Given the description of an element on the screen output the (x, y) to click on. 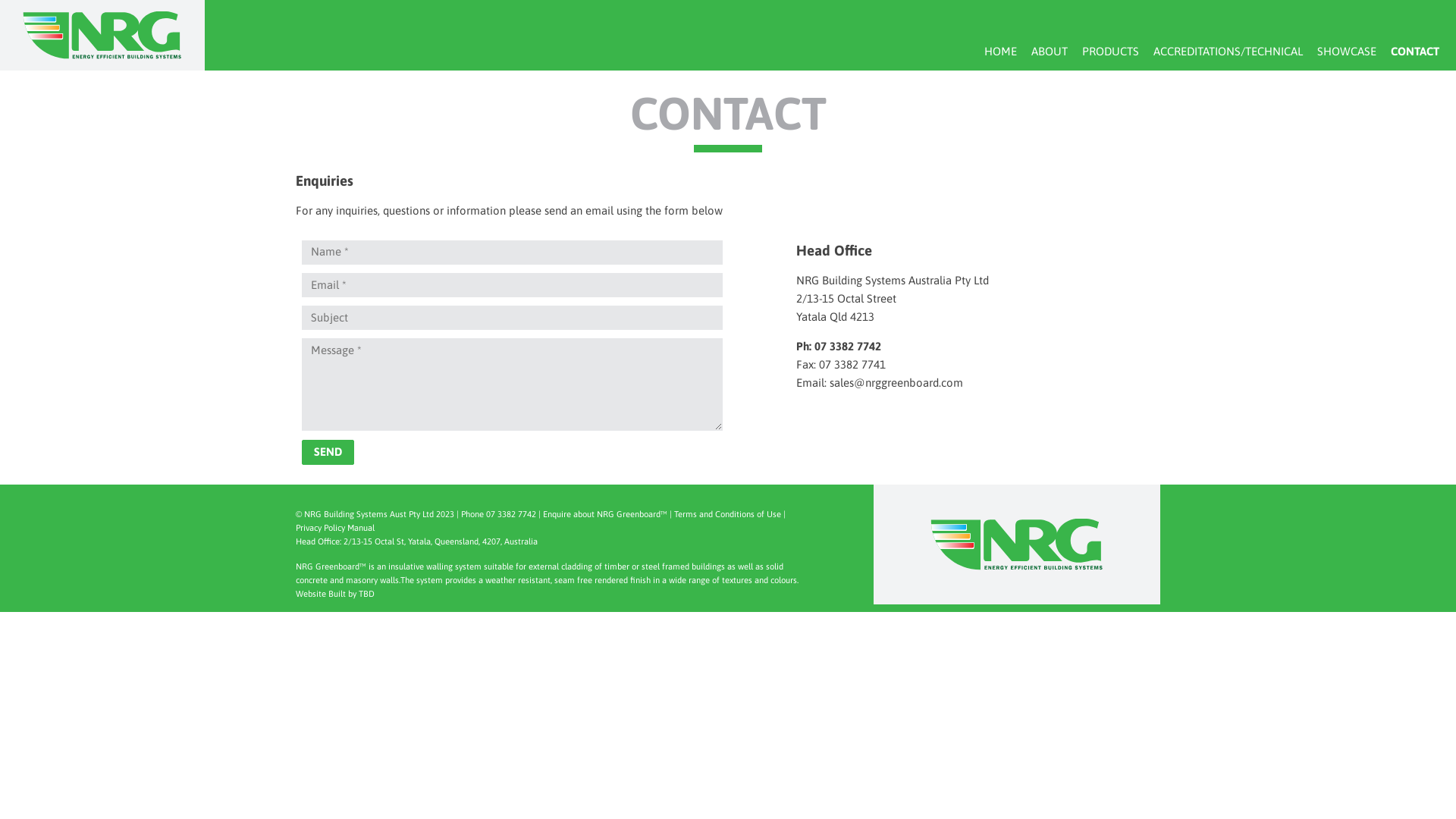
ACCREDITATIONS/TECHNICAL Element type: text (1227, 51)
HOME Element type: text (1000, 51)
EPS Cladding Element type: hover (1016, 566)
Terms and Conditions of Use Element type: text (727, 513)
NRG Greenboard Expanded Polystyrene Manufacturers Element type: hover (1016, 544)
CONTACT Element type: text (1414, 51)
NRG Manufacturing EPS Element type: hover (102, 54)
TBD Element type: text (366, 593)
SHOWCASE Element type: text (1346, 51)
Privacy Policy Manual Element type: text (334, 527)
ABOUT Element type: text (1049, 51)
PRODUCTS Element type: text (1110, 51)
Send Element type: text (327, 452)
